Given the description of an element on the screen output the (x, y) to click on. 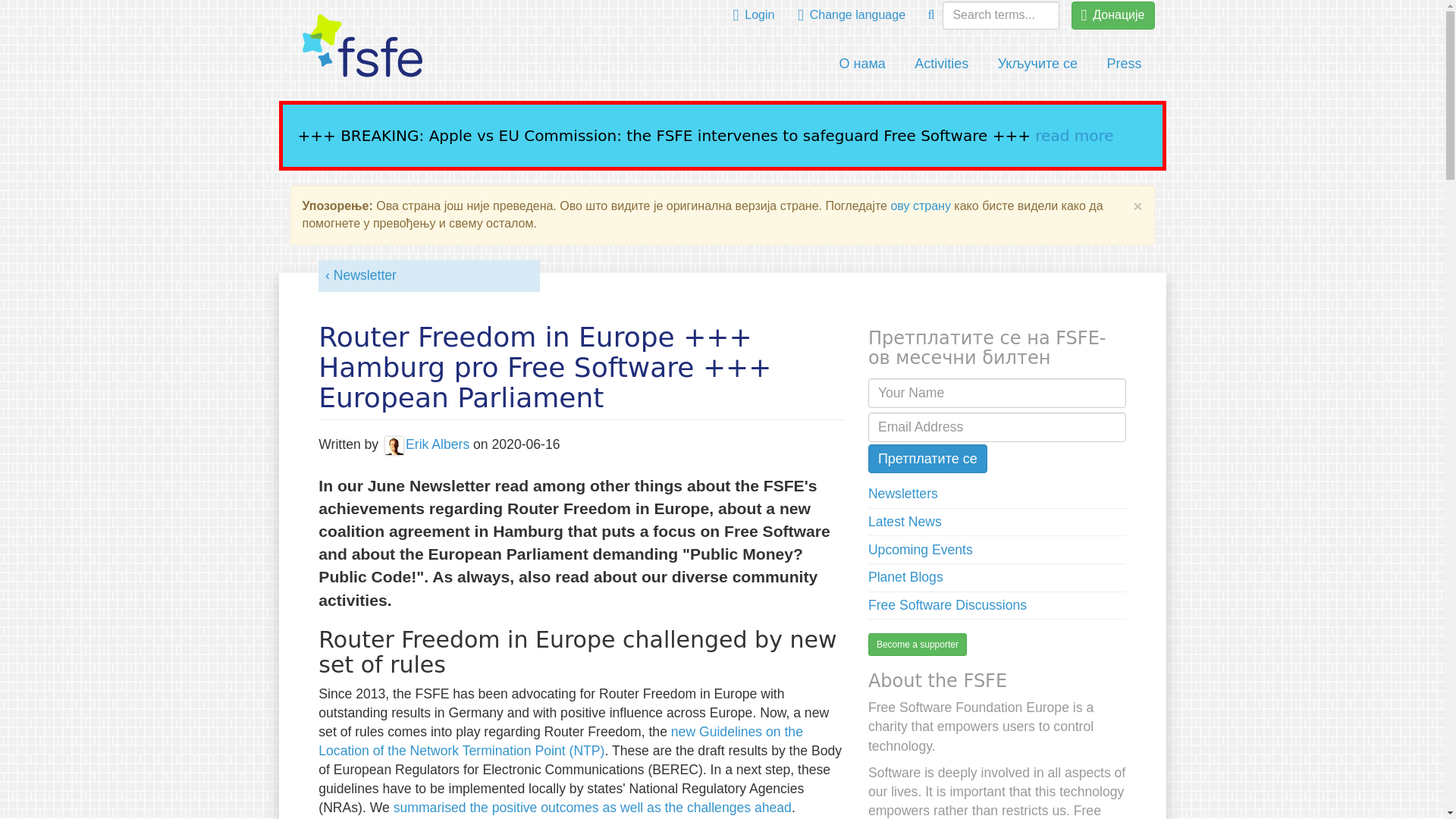
Press (1123, 63)
Newsletter (360, 274)
Change language (851, 15)
Erik Albers (424, 444)
Login (753, 15)
Activities (941, 63)
read more (1074, 135)
